Given the description of an element on the screen output the (x, y) to click on. 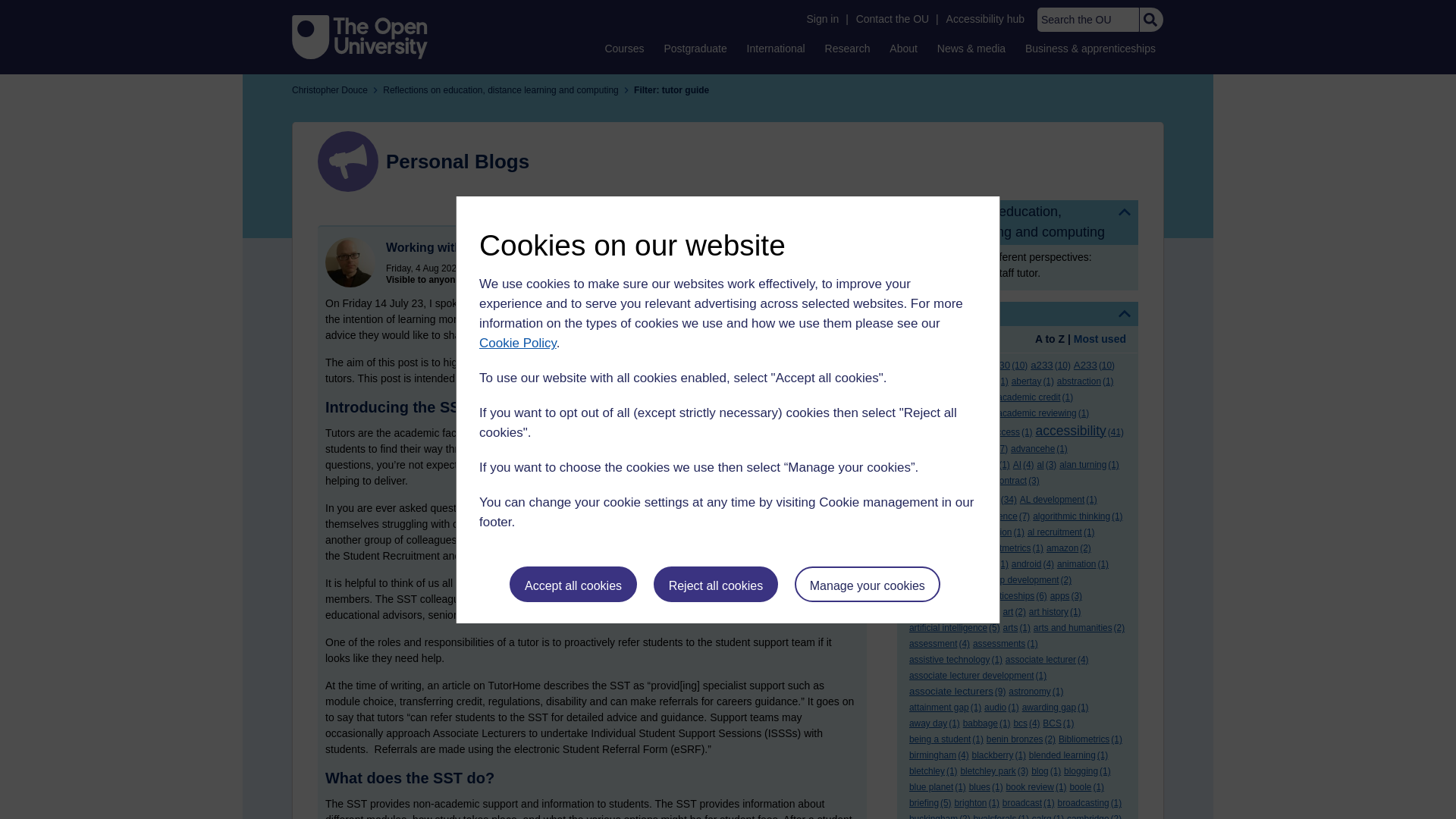
Manage your cookies (867, 583)
Accessibility hub (985, 19)
Postgraduate (695, 48)
Courses (623, 48)
Research (847, 48)
Sign in (822, 19)
Cookie Policy (517, 342)
The Open University (360, 36)
About (903, 48)
